Given the description of an element on the screen output the (x, y) to click on. 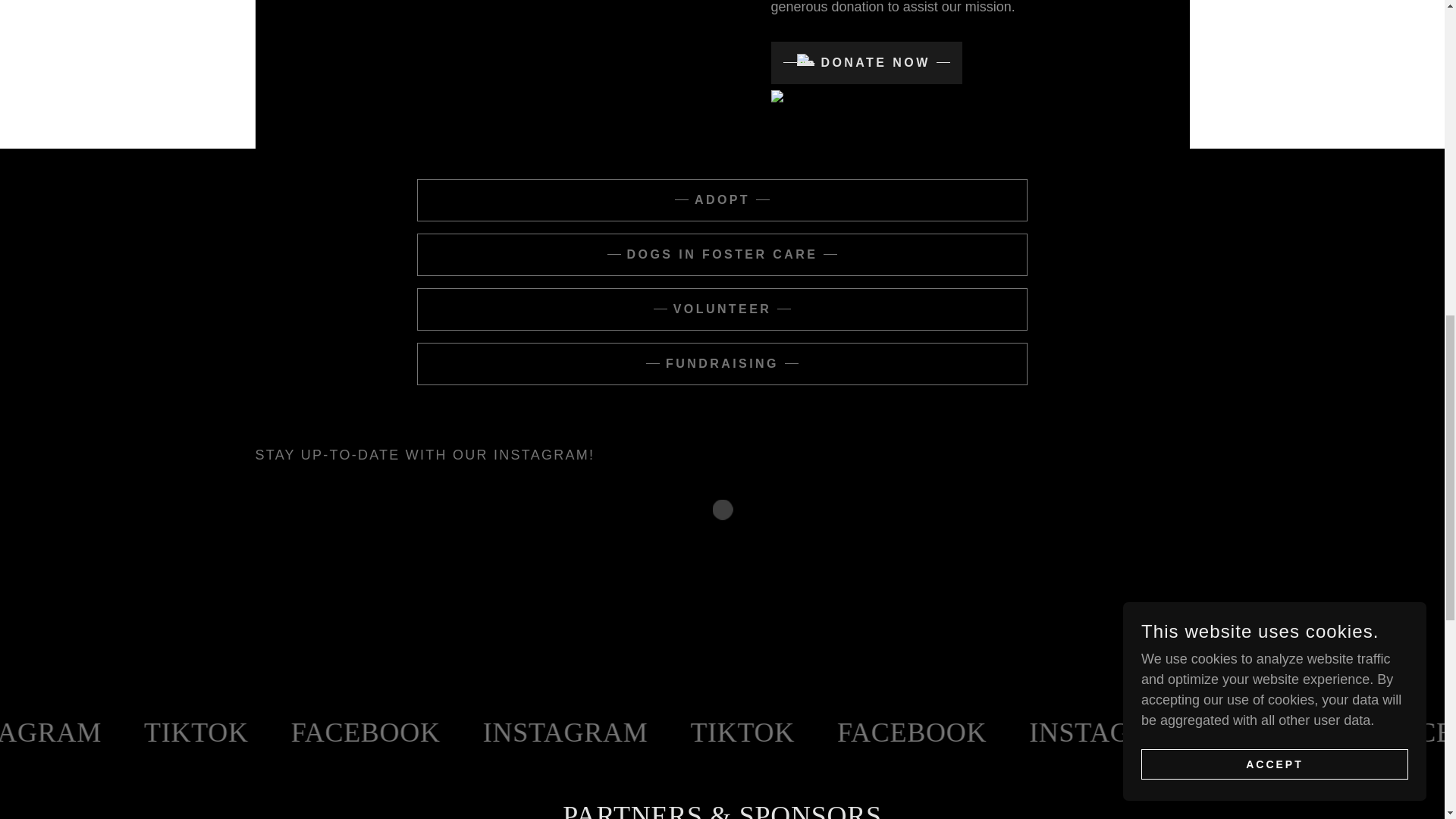
FACEBOOK (48, 732)
FUNDRAISING (721, 363)
INSTAGRAM (219, 732)
DONATE NOW (865, 62)
ADOPT (721, 200)
DOGS IN FOSTER CARE (721, 254)
VOLUNTEER (721, 309)
